Given the description of an element on the screen output the (x, y) to click on. 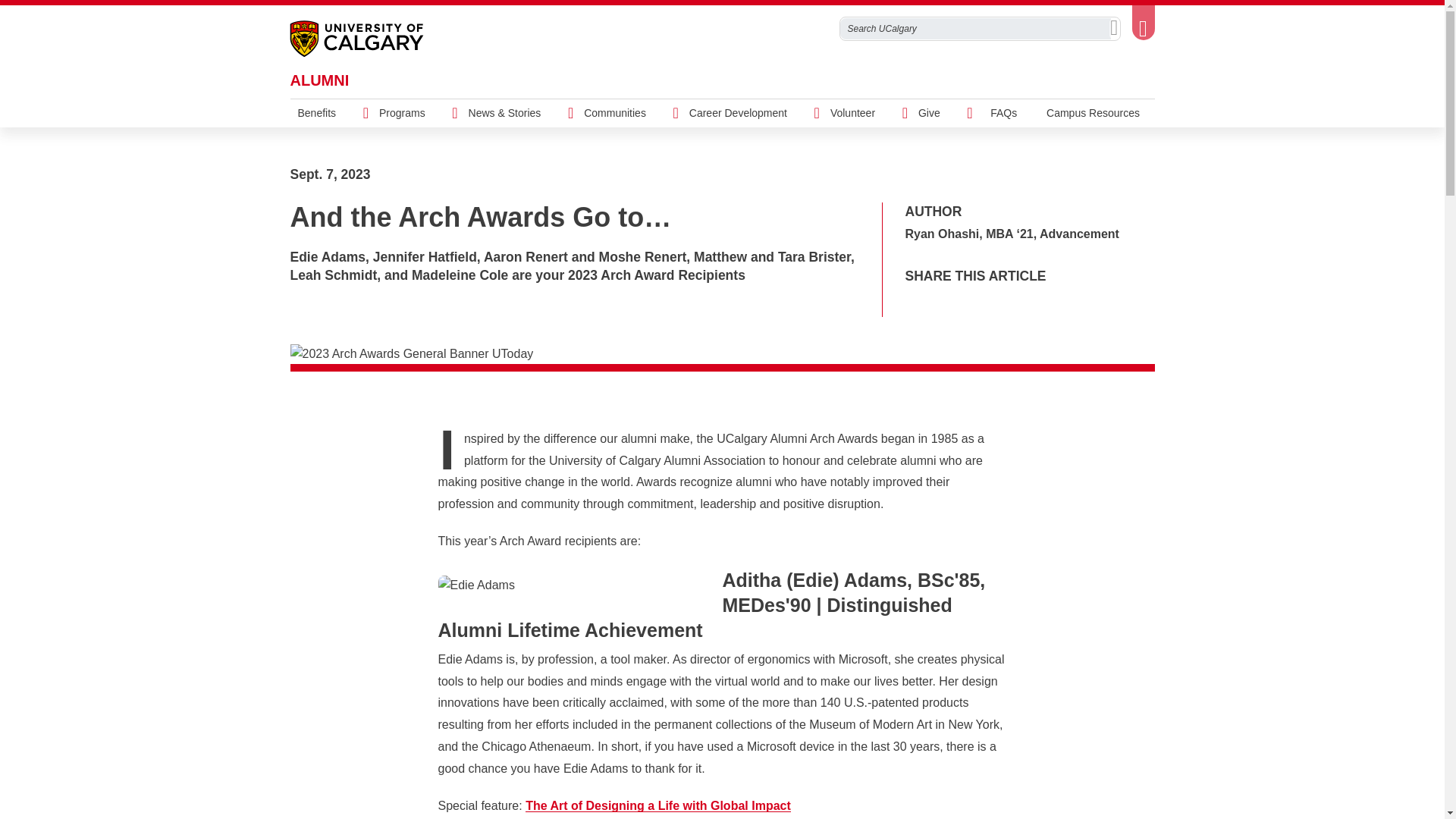
ALUMNI (319, 80)
